Given the description of an element on the screen output the (x, y) to click on. 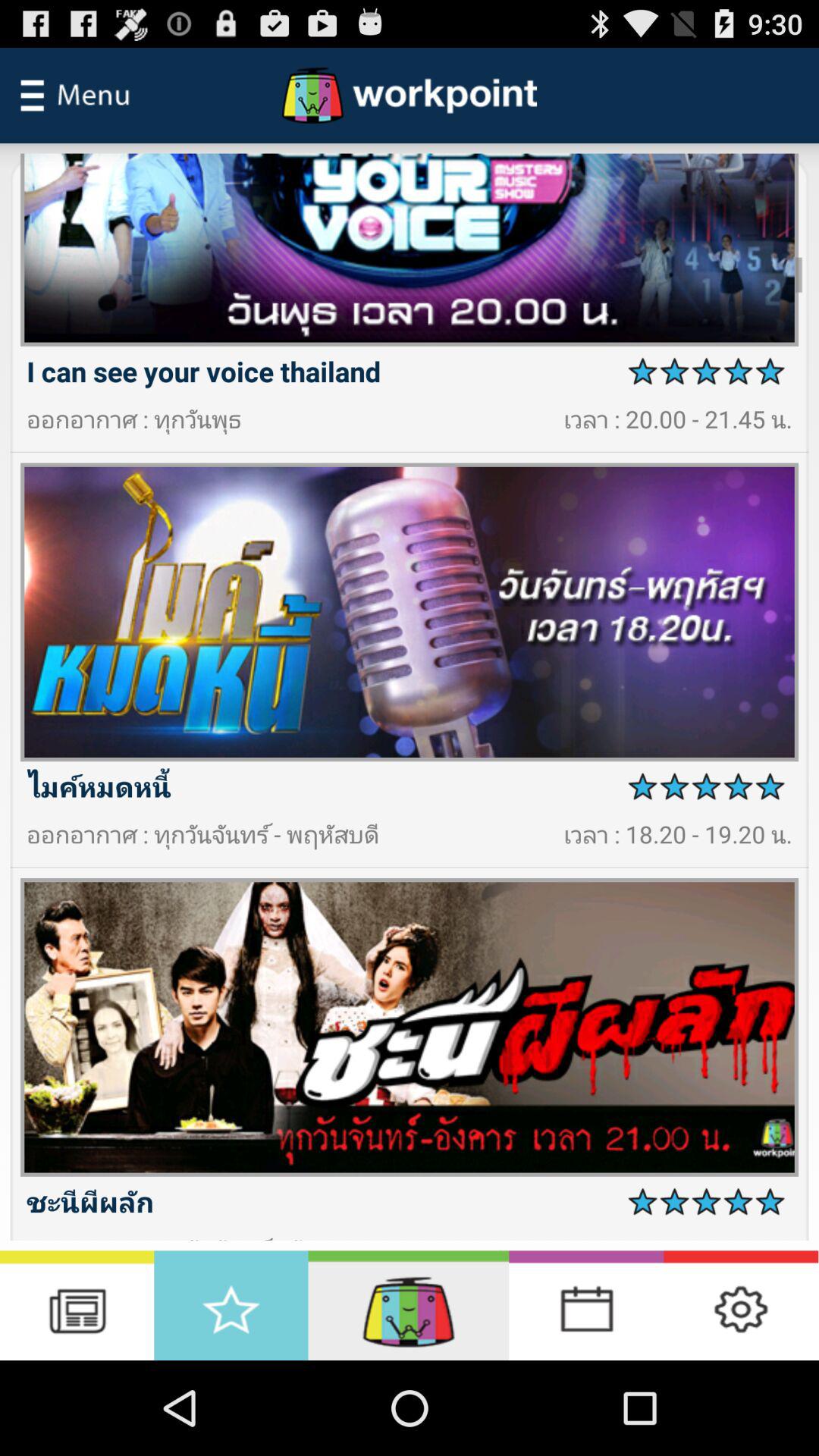
favourite button (231, 1305)
